Given the description of an element on the screen output the (x, y) to click on. 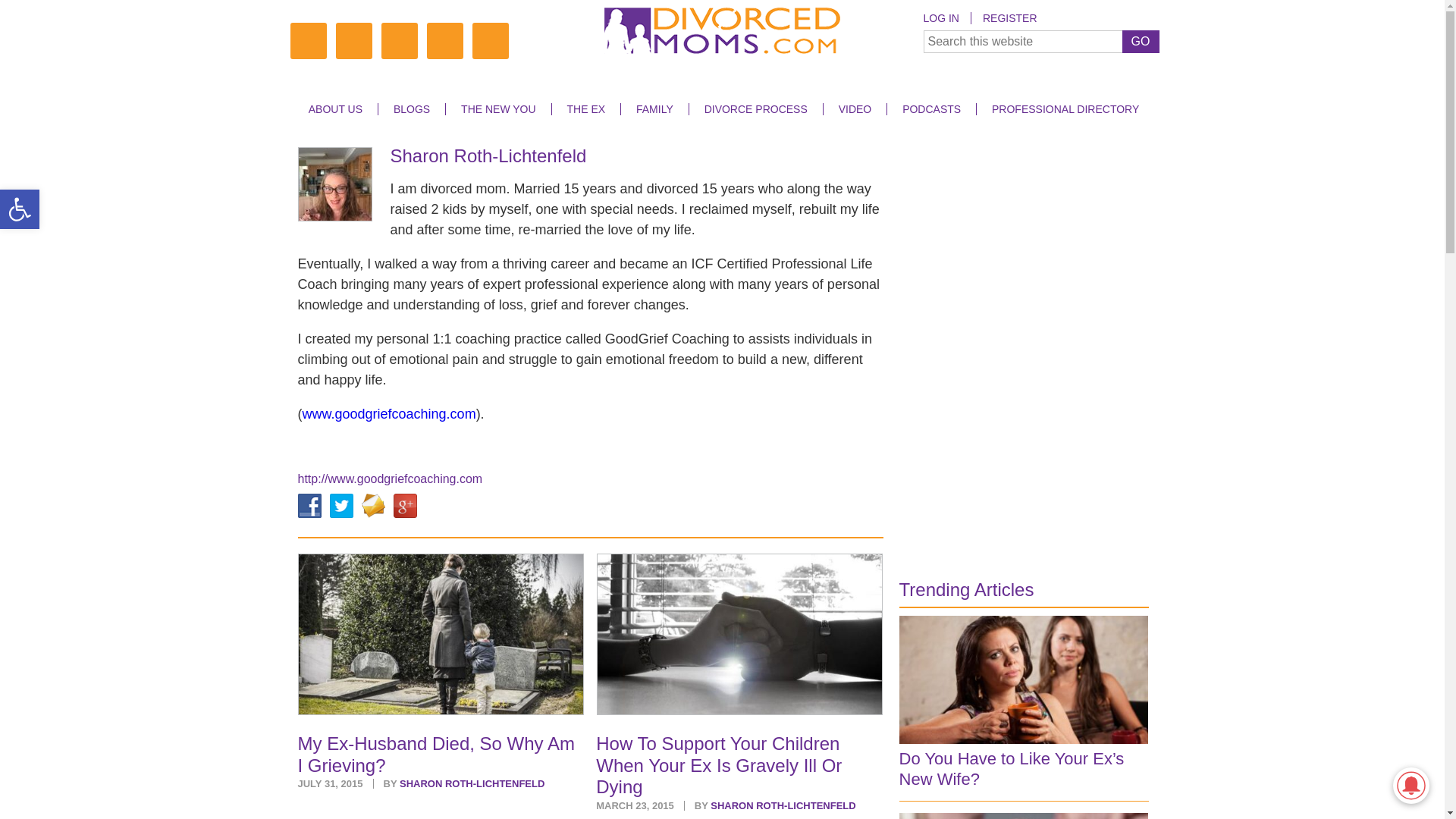
3rd party ad content (1012, 458)
GO (1140, 41)
LOG IN (947, 18)
My Ex-Husband Died, So Why Am I Grieving? (440, 633)
Divorced Moms (721, 33)
Open toolbar (19, 209)
GO (1140, 41)
REGISTER (1009, 18)
THE EX (585, 109)
